Given the description of an element on the screen output the (x, y) to click on. 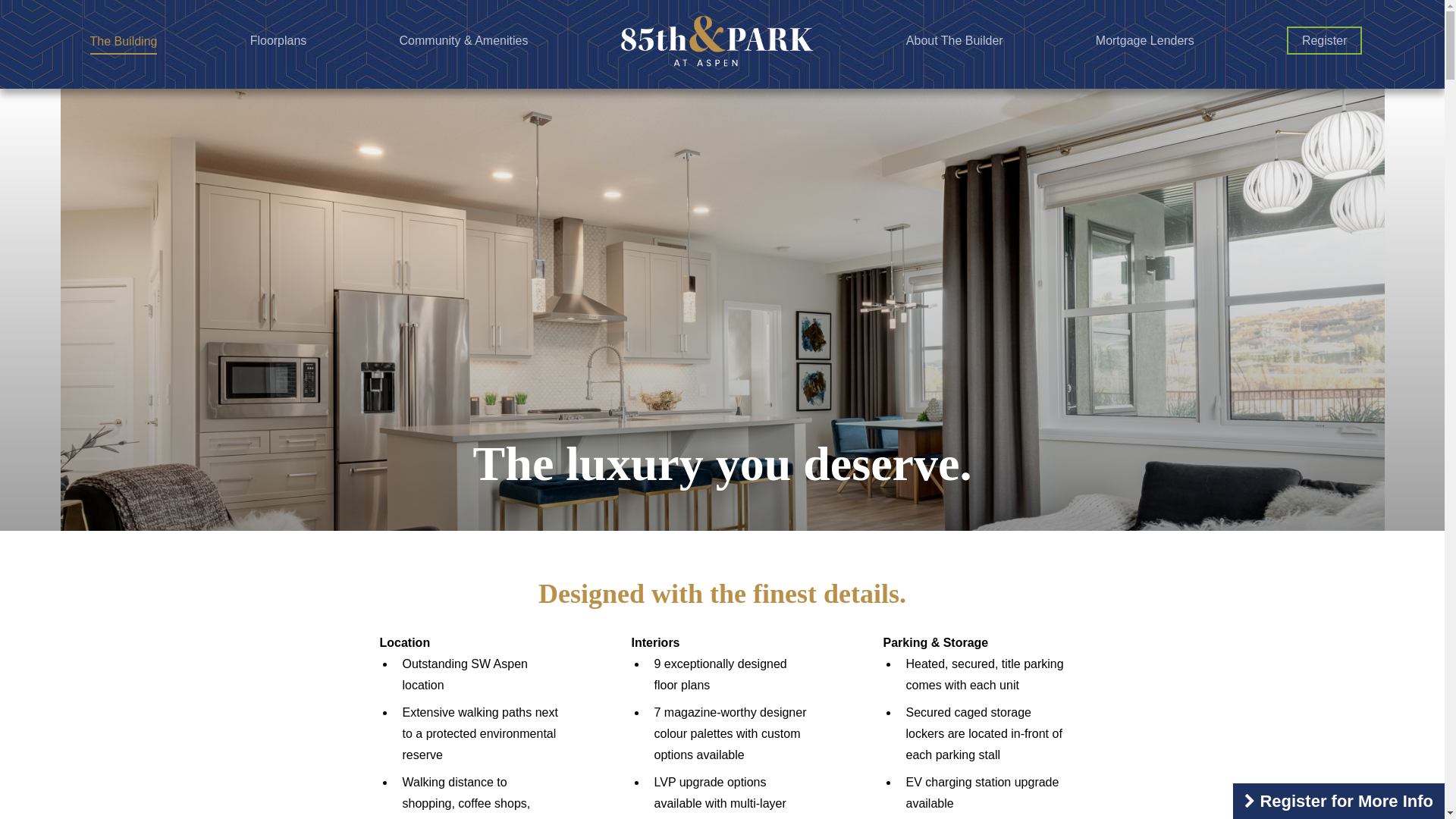
Community & Amenities Element type: text (463, 40)
The Building Element type: text (122, 41)
Home Element type: text (717, 41)
Floorplans Element type: text (278, 40)
About The Builder Element type: text (954, 40)
Mortgage Lenders Element type: text (1144, 40)
Register Element type: text (1324, 40)
